Given the description of an element on the screen output the (x, y) to click on. 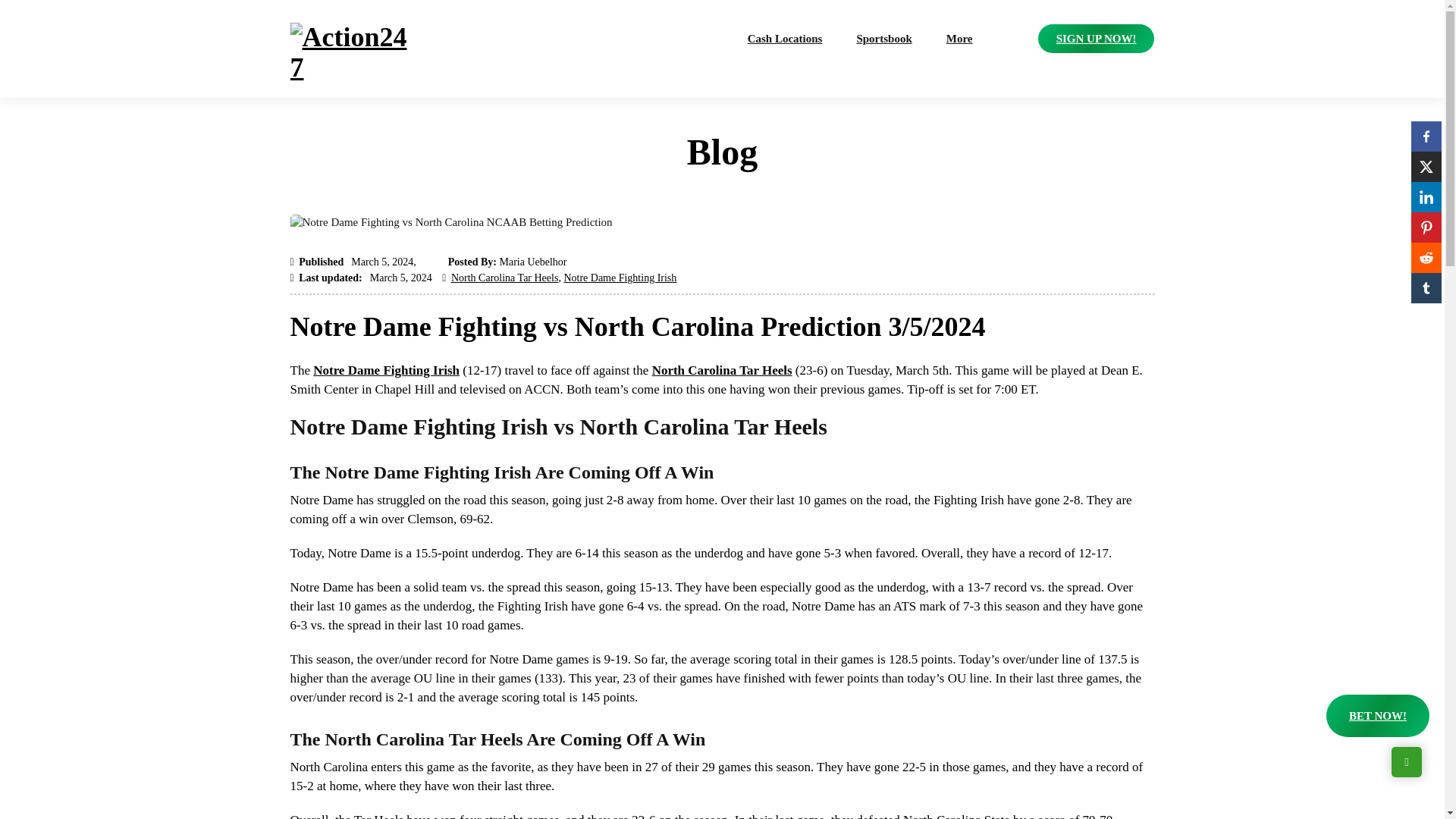
SIGN UP NOW! (1096, 38)
More (959, 38)
Linkedin (1425, 196)
North Carolina Tar Heels (722, 370)
Tumblr (1425, 287)
Notre Dame Fighting Irish (620, 277)
Cash Locations (785, 38)
Notre Dame Fighting Irish (386, 370)
Reddit (1425, 257)
Pinterest (1425, 227)
